Given the description of an element on the screen output the (x, y) to click on. 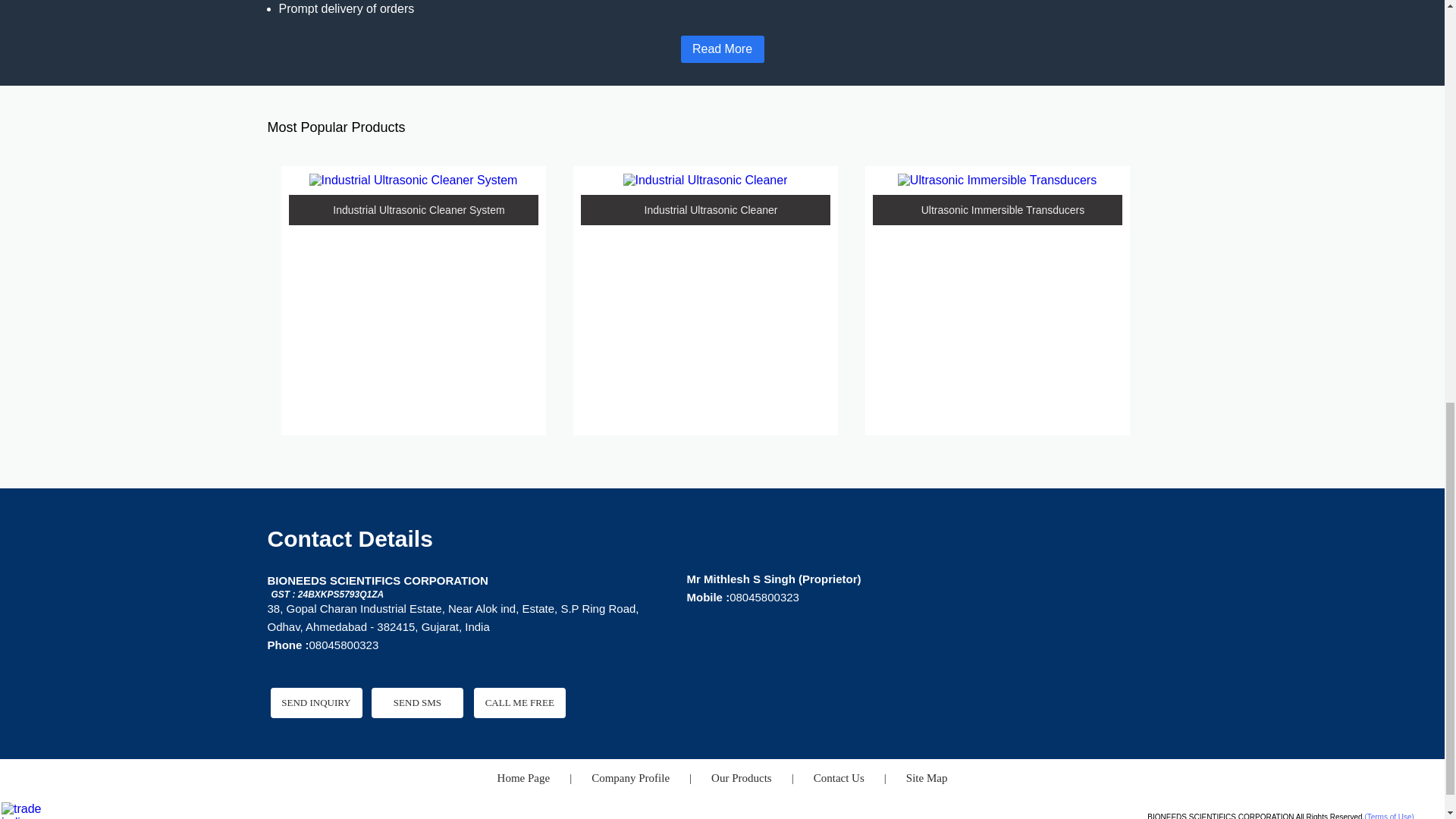
Ultrasonic Immersible Transducers (997, 180)
Industrial Ultrasonic Cleaner System (413, 180)
Industrial Ultrasonic Cleaner (705, 180)
